Given the description of an element on the screen output the (x, y) to click on. 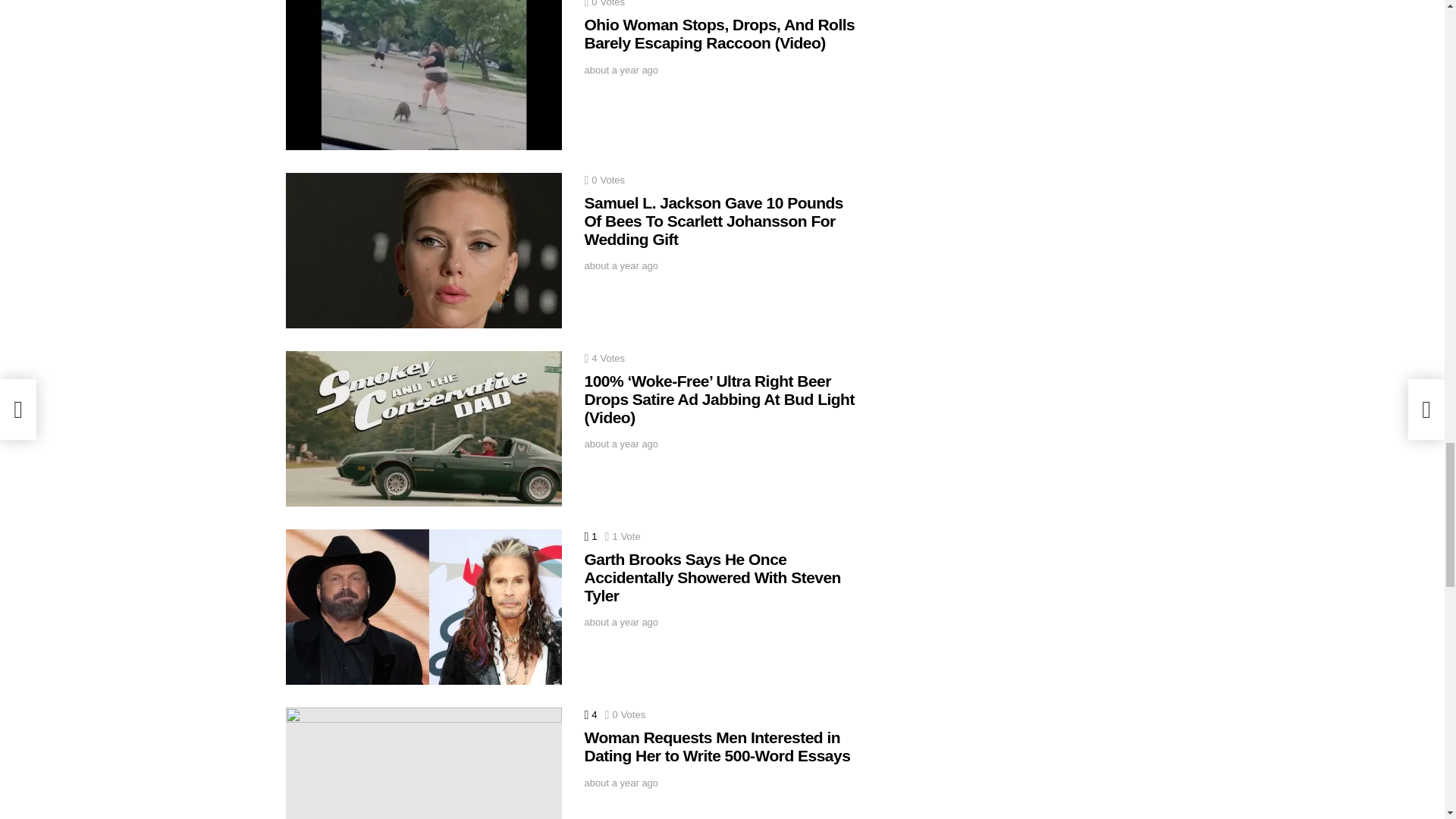
July 21, 2023, 5:40 pm (620, 265)
July 26, 2023, 7:07 pm (620, 70)
July 13, 2023, 11:19 am (620, 444)
